Given the description of an element on the screen output the (x, y) to click on. 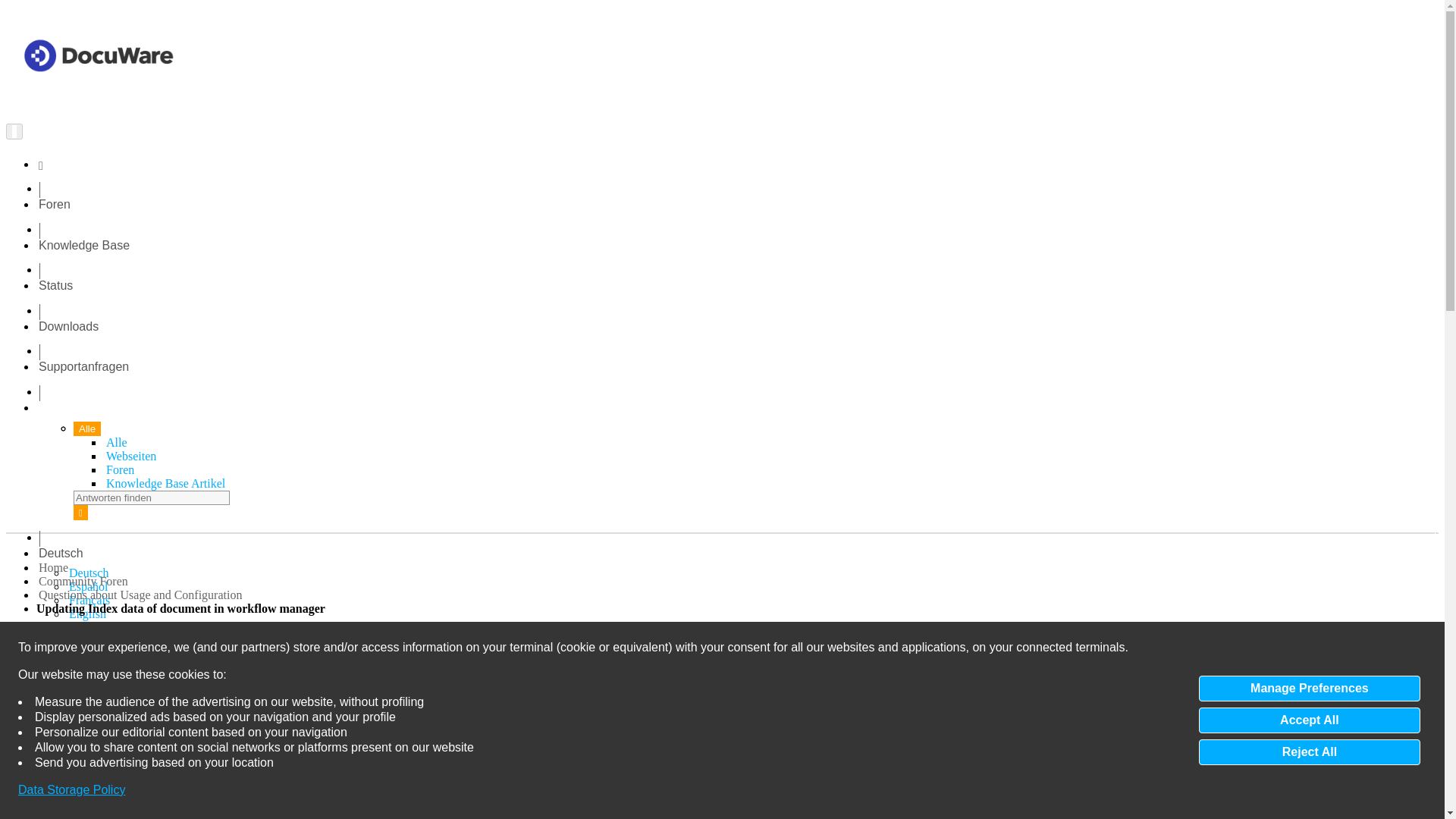
Supportanfragen (84, 366)
Webseiten (130, 454)
Manage Preferences (1309, 688)
Foren (119, 468)
Alle (117, 440)
Status (55, 285)
Accept All (1309, 720)
Data Storage Policy (71, 789)
Suche (80, 512)
Steve Shriver (193, 681)
